Given the description of an element on the screen output the (x, y) to click on. 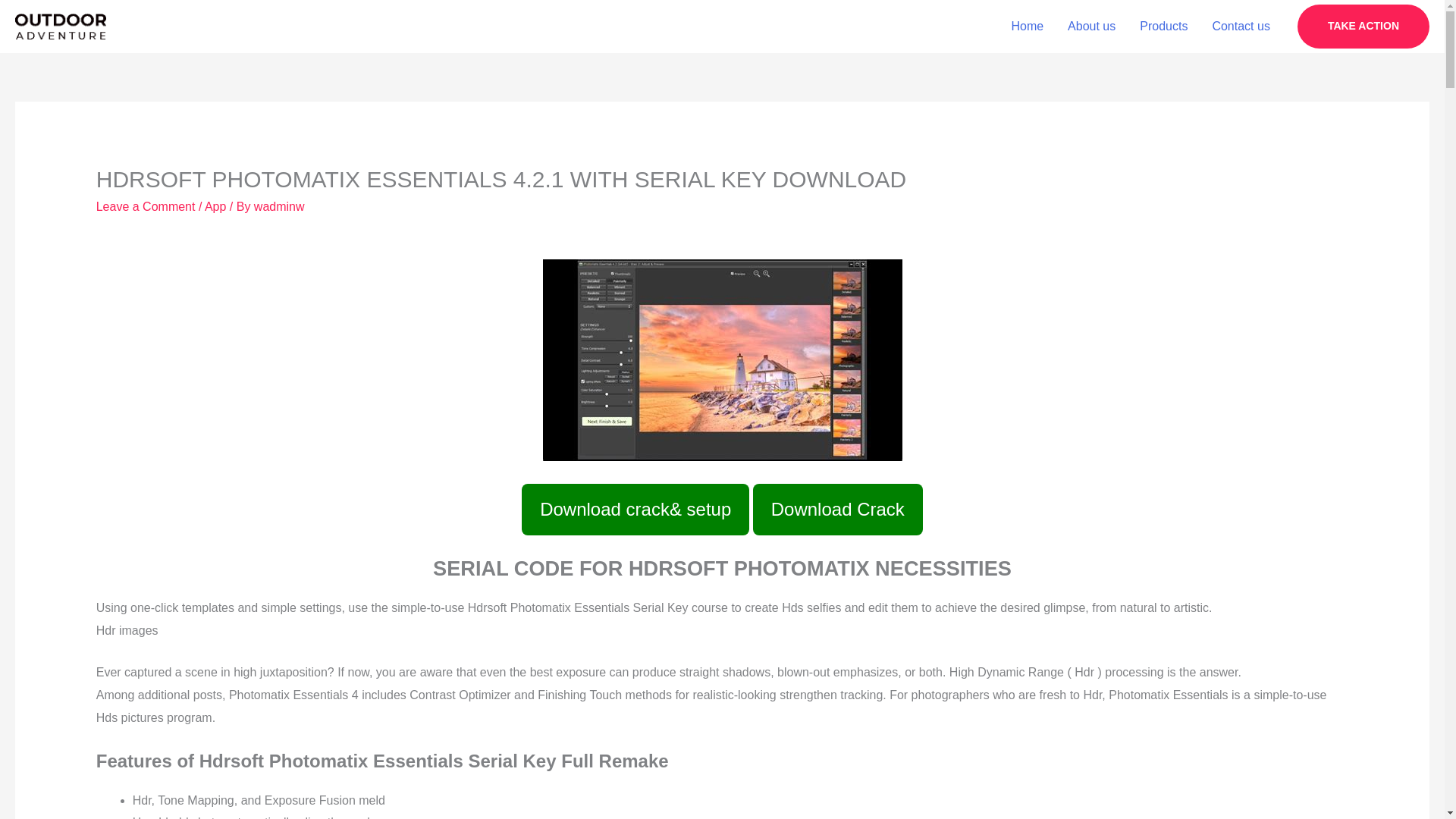
TAKE ACTION (1363, 26)
Home (1026, 26)
Contact us (1240, 26)
App (215, 205)
View all posts by wadminw (278, 205)
Download Crack (837, 510)
Products (1162, 26)
About us (1090, 26)
wadminw (278, 205)
Leave a Comment (145, 205)
